Given the description of an element on the screen output the (x, y) to click on. 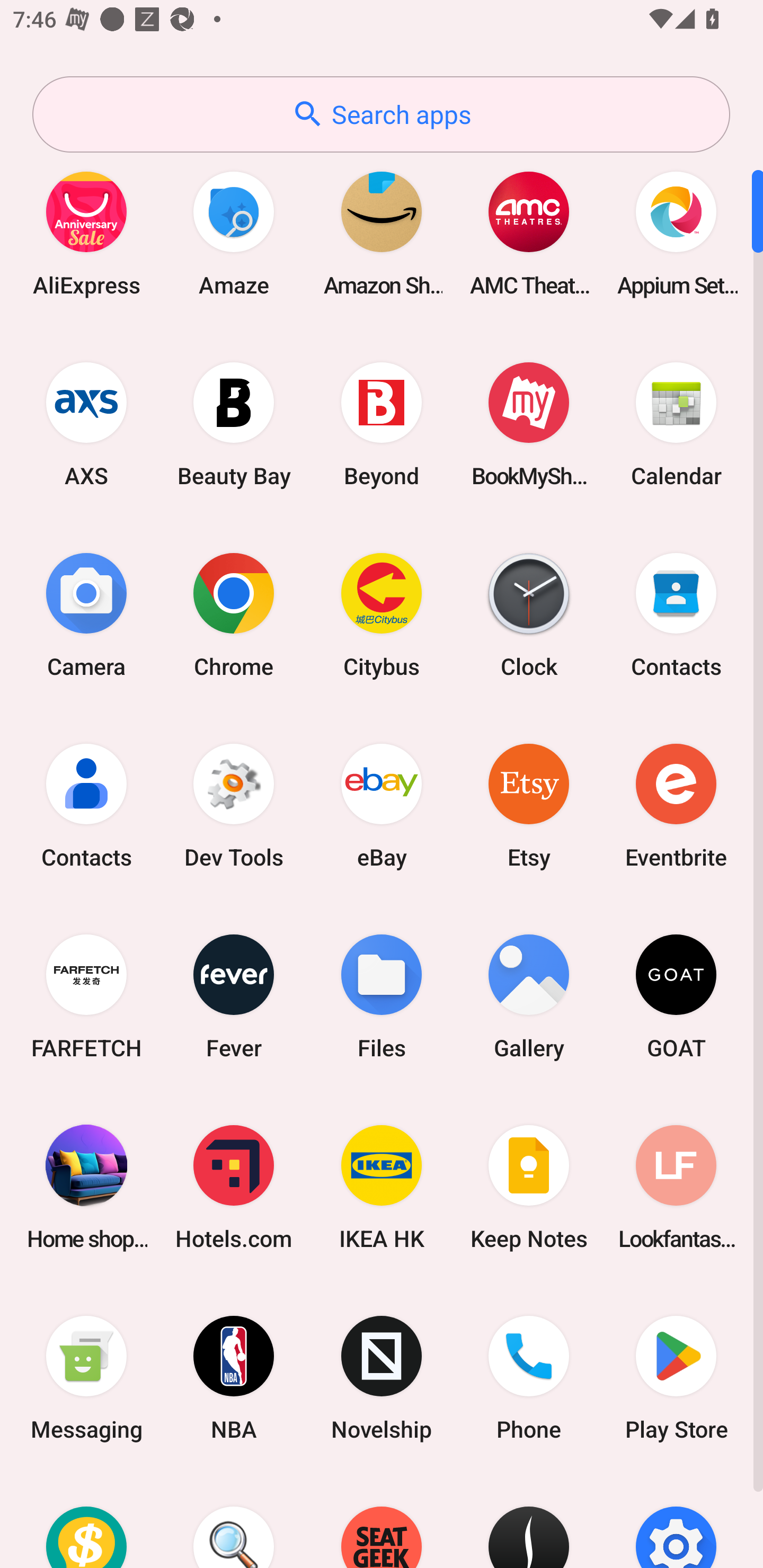
  Search apps (381, 114)
AliExpress (86, 233)
Amaze (233, 233)
Amazon Shopping (381, 233)
AMC Theatres (528, 233)
Appium Settings (676, 233)
AXS (86, 424)
Beauty Bay (233, 424)
Beyond (381, 424)
BookMyShow (528, 424)
Calendar (676, 424)
Camera (86, 614)
Chrome (233, 614)
Citybus (381, 614)
Clock (528, 614)
Contacts (676, 614)
Contacts (86, 805)
Dev Tools (233, 805)
eBay (381, 805)
Etsy (528, 805)
Eventbrite (676, 805)
FARFETCH (86, 996)
Fever (233, 996)
Files (381, 996)
Gallery (528, 996)
GOAT (676, 996)
Home shopping (86, 1186)
Hotels.com (233, 1186)
IKEA HK (381, 1186)
Keep Notes (528, 1186)
Lookfantastic (676, 1186)
Messaging (86, 1377)
NBA (233, 1377)
Novelship (381, 1377)
Phone (528, 1377)
Play Store (676, 1377)
